Given the description of an element on the screen output the (x, y) to click on. 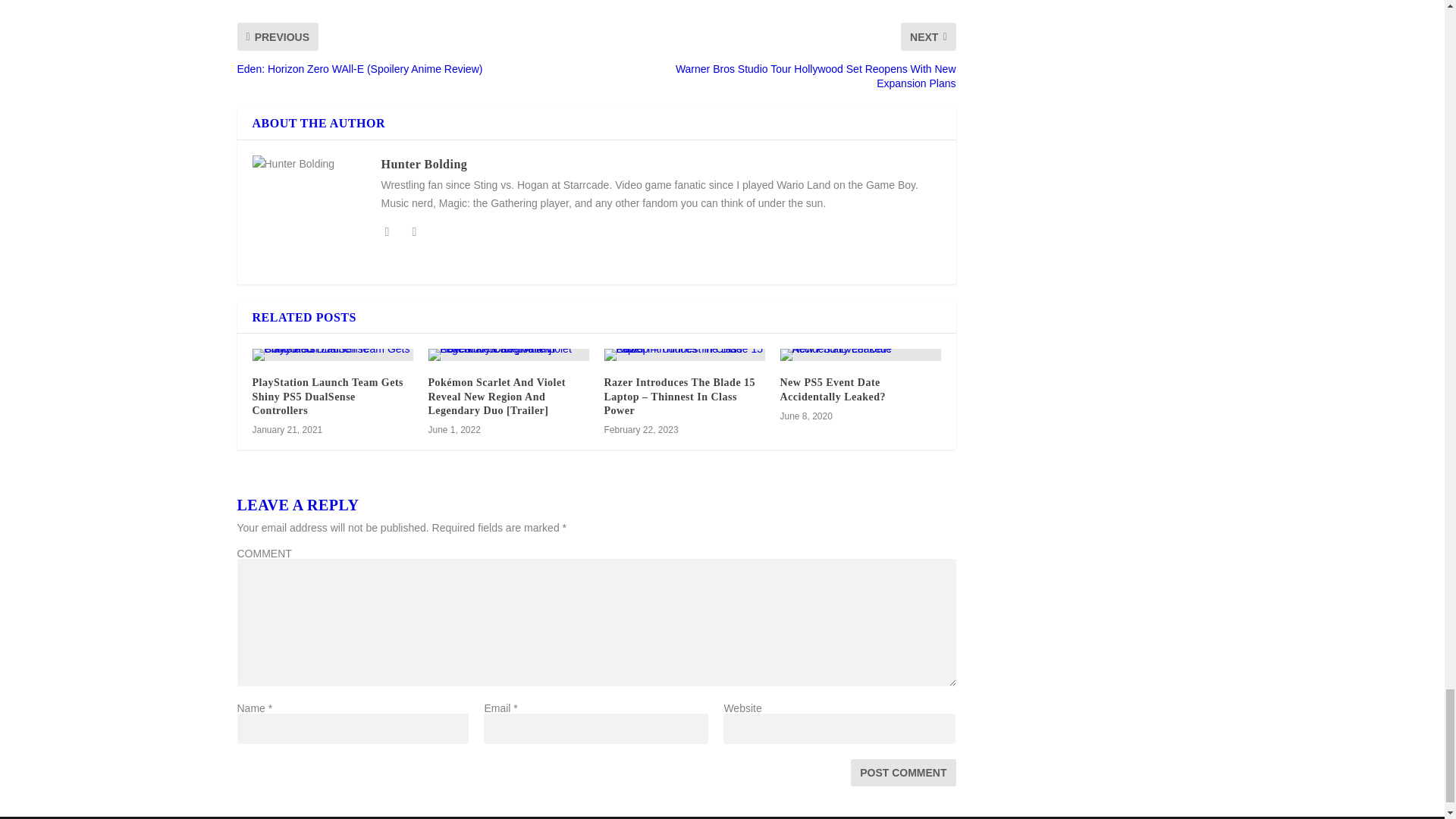
Post Comment (902, 772)
PlayStation Launch Team Gets Shiny PS5 DualSense Controllers (327, 395)
Hunter Bolding (423, 164)
